Given the description of an element on the screen output the (x, y) to click on. 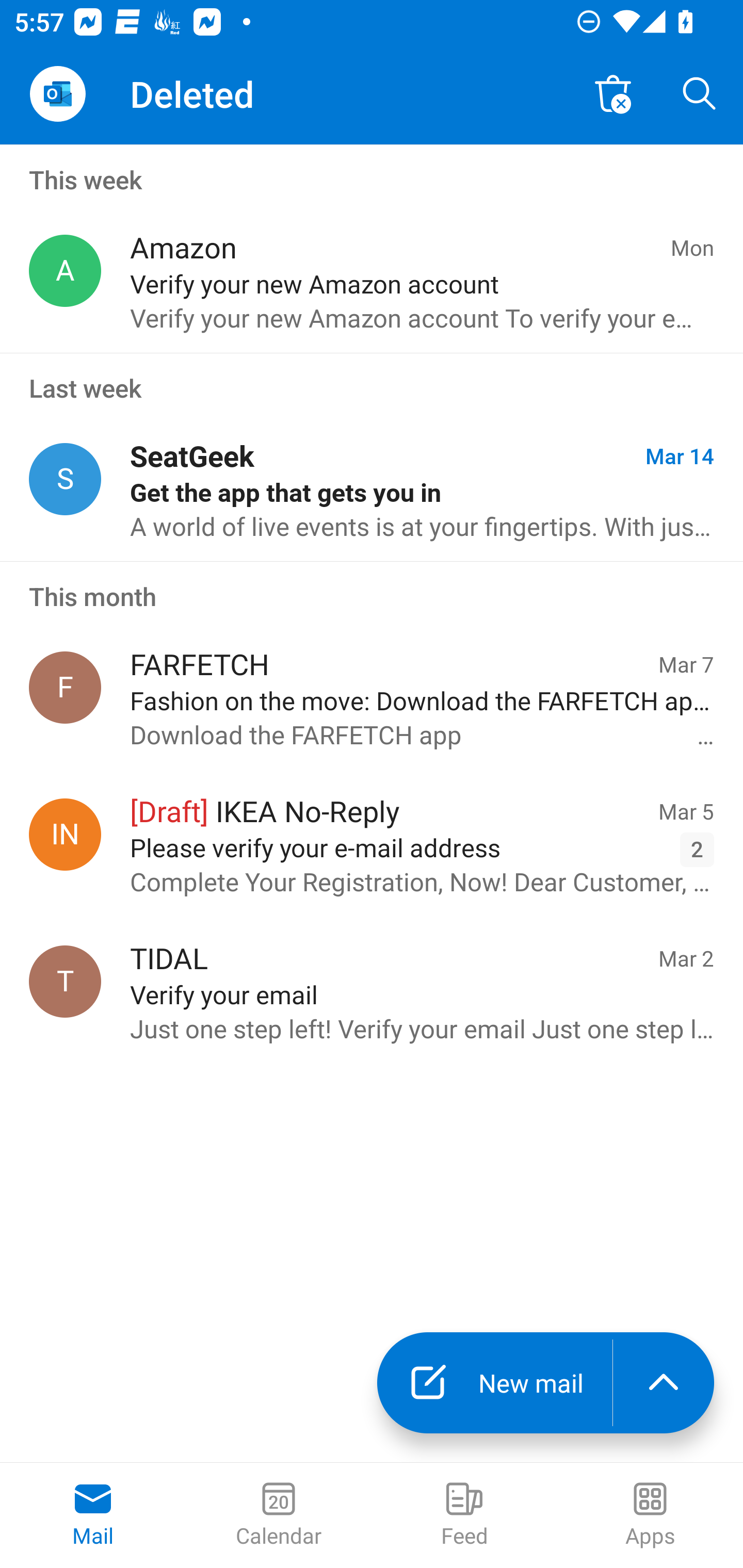
Empty Deleted (612, 93)
Search, ,  (699, 93)
Close Navigation Drawer (57, 94)
Amazon, account-update@amazon.com (64, 271)
SeatGeek, events@seatgeek.com (64, 479)
FARFETCH, farfetch@email.farfetch.com (64, 687)
IKEA No-Reply, noreply@ikea.com.hk (64, 834)
TIDAL, account@info.tidal.com (64, 981)
New mail (494, 1382)
launch the extended action menu (663, 1382)
Calendar (278, 1515)
Feed (464, 1515)
Apps (650, 1515)
